Given the description of an element on the screen output the (x, y) to click on. 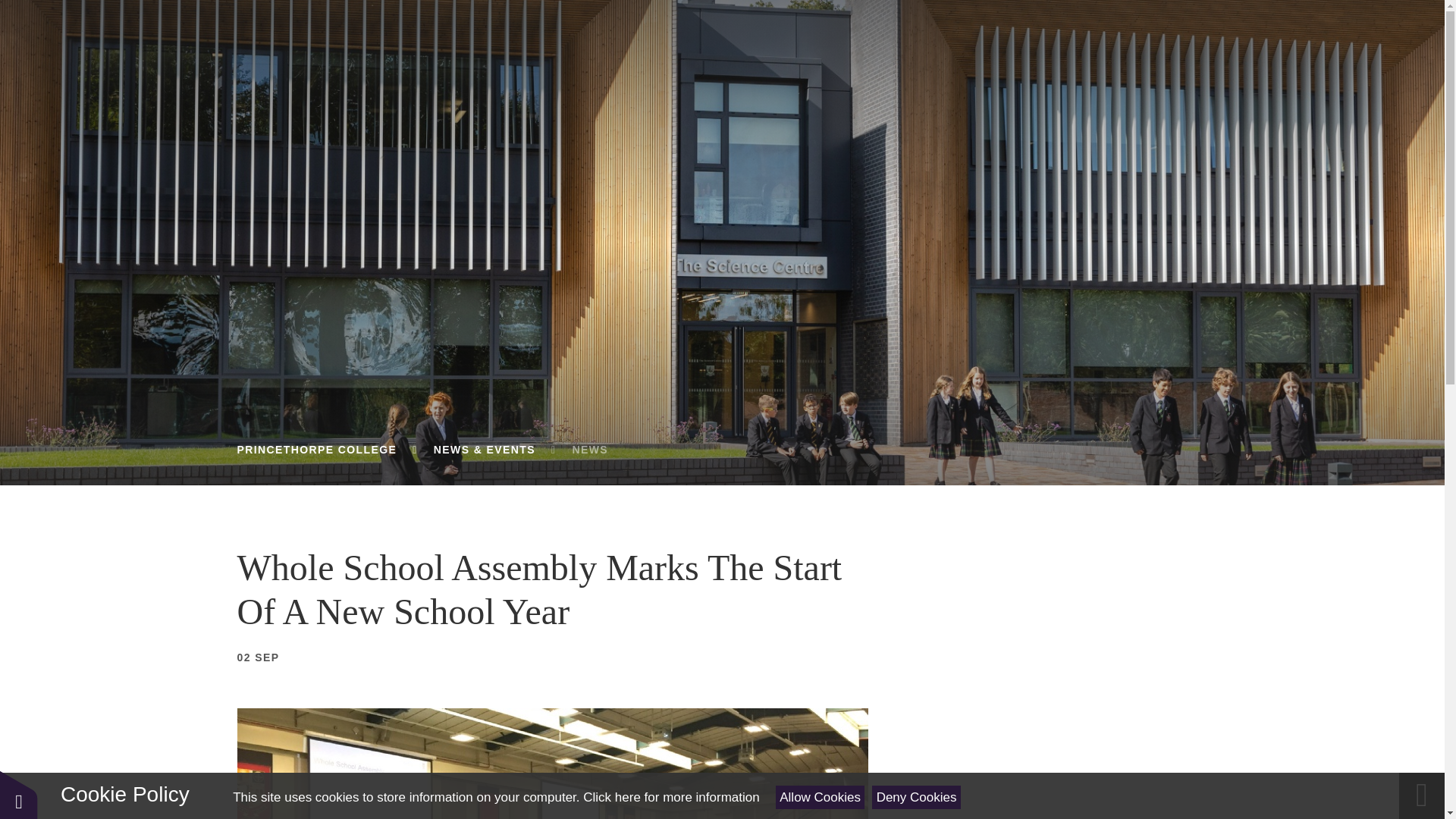
See cookie policy (670, 797)
Allow Cookies (820, 797)
Deny Cookies (915, 797)
